Given the description of an element on the screen output the (x, y) to click on. 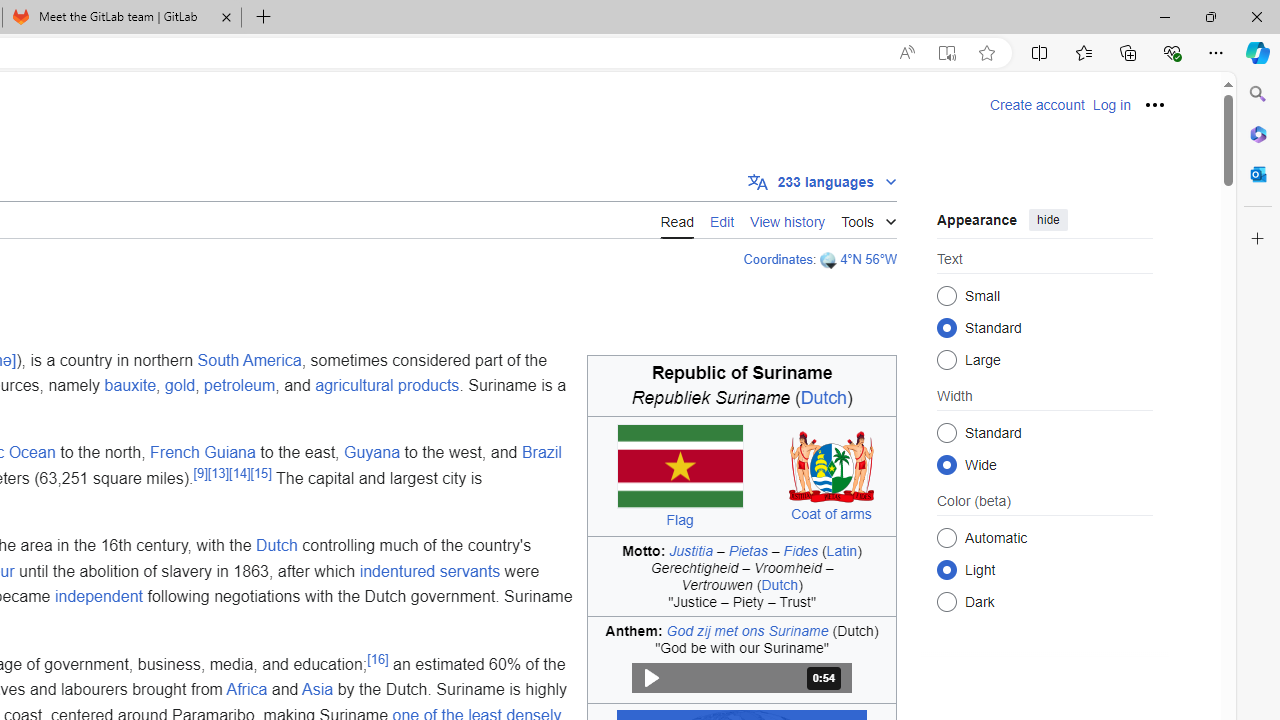
[15] (260, 472)
agricultural products (386, 386)
gold (179, 386)
Play audio (742, 678)
Edit (721, 219)
[16] (378, 658)
Coordinates (777, 259)
View history (787, 219)
Create account (1037, 105)
Coat of arms (831, 513)
